Given the description of an element on the screen output the (x, y) to click on. 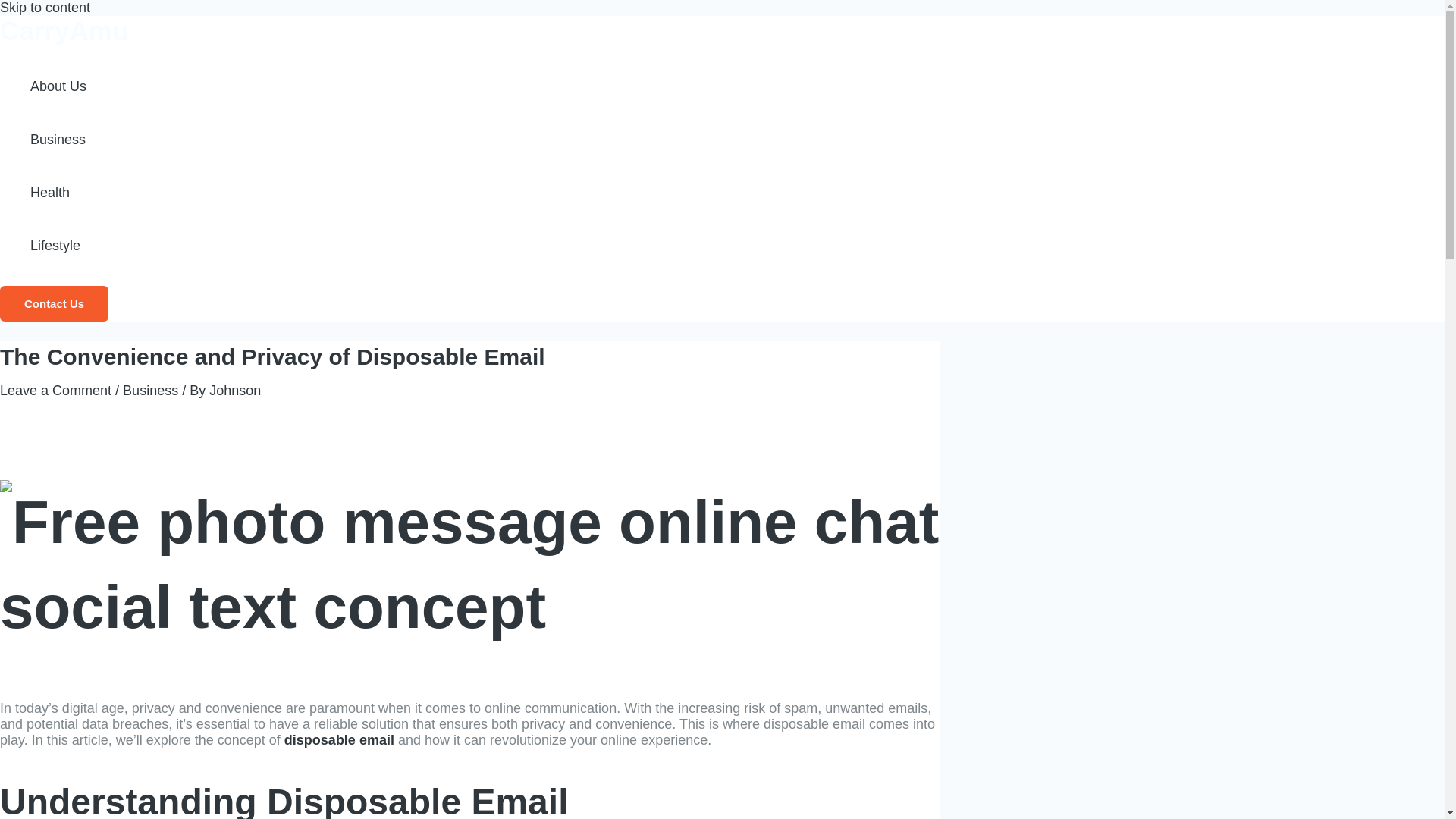
Skip to content (45, 7)
Business (149, 390)
Health (57, 192)
Contact Us (53, 303)
Skip to content (45, 7)
Lifestyle (57, 245)
CarryAmu (64, 30)
About Us (57, 86)
Johnson (234, 390)
View all posts by Johnson (234, 390)
